Given the description of an element on the screen output the (x, y) to click on. 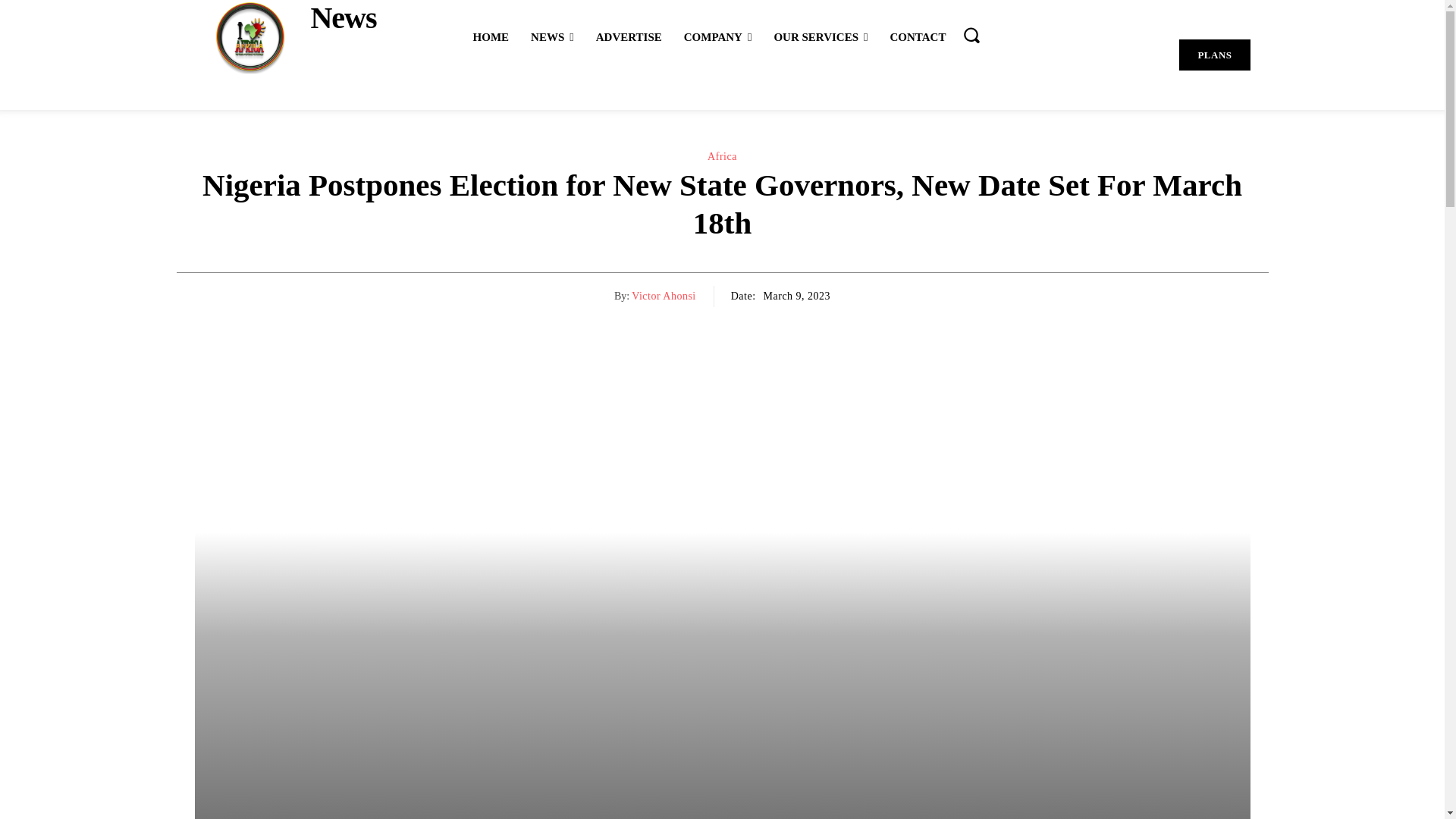
Plans (1214, 54)
NEWS (552, 36)
HOME (491, 36)
News (284, 36)
